Given the description of an element on the screen output the (x, y) to click on. 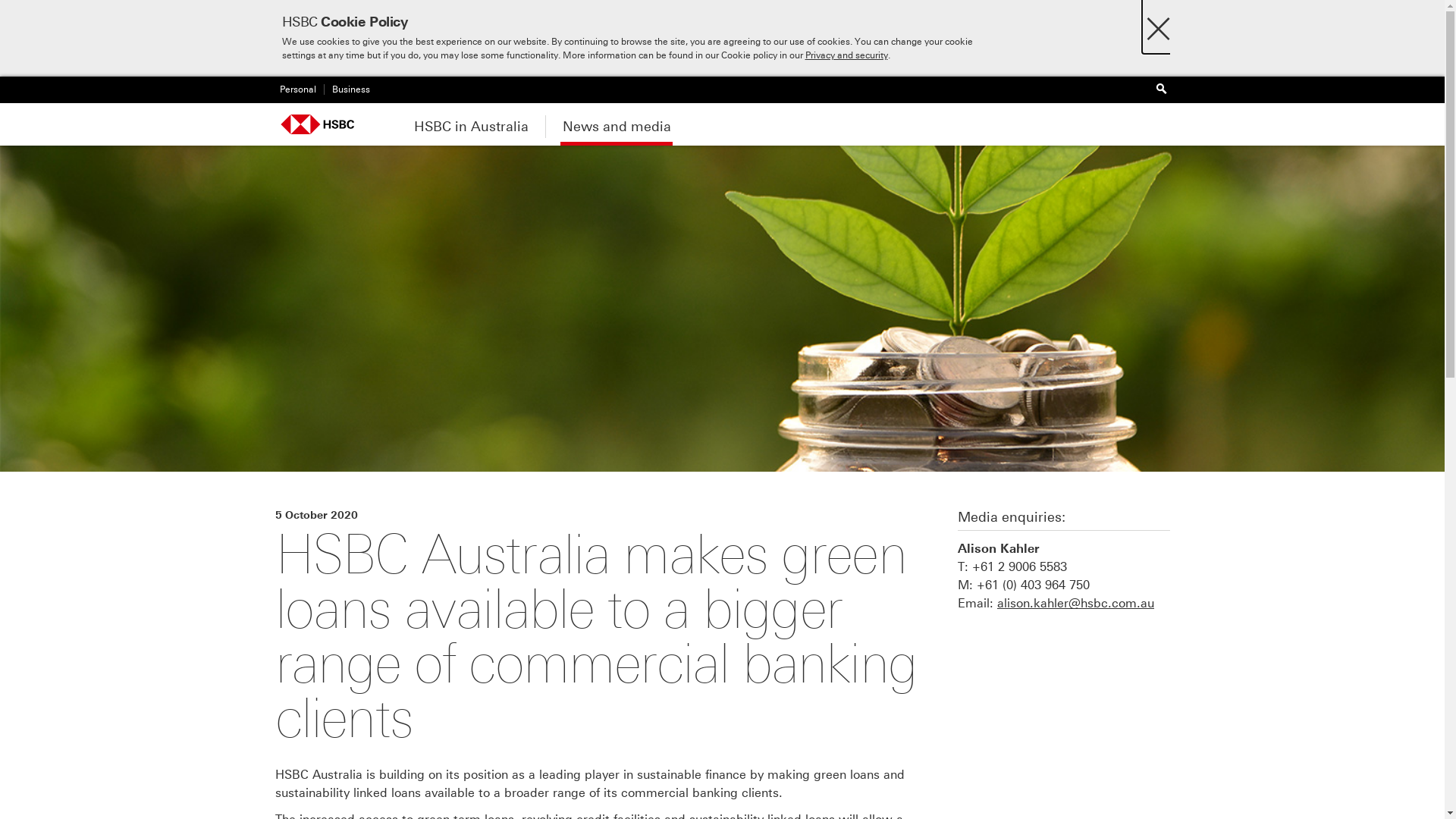
alison.kahler@hsbc.com.au Element type: text (1075, 603)
Personal Element type: text (294, 89)
Privacy and security Element type: text (846, 55)
Business Element type: text (346, 89)
Search Element type: hover (1161, 88)
HSBC in Australia Element type: text (470, 124)
News and media Element type: text (615, 124)
